Given the description of an element on the screen output the (x, y) to click on. 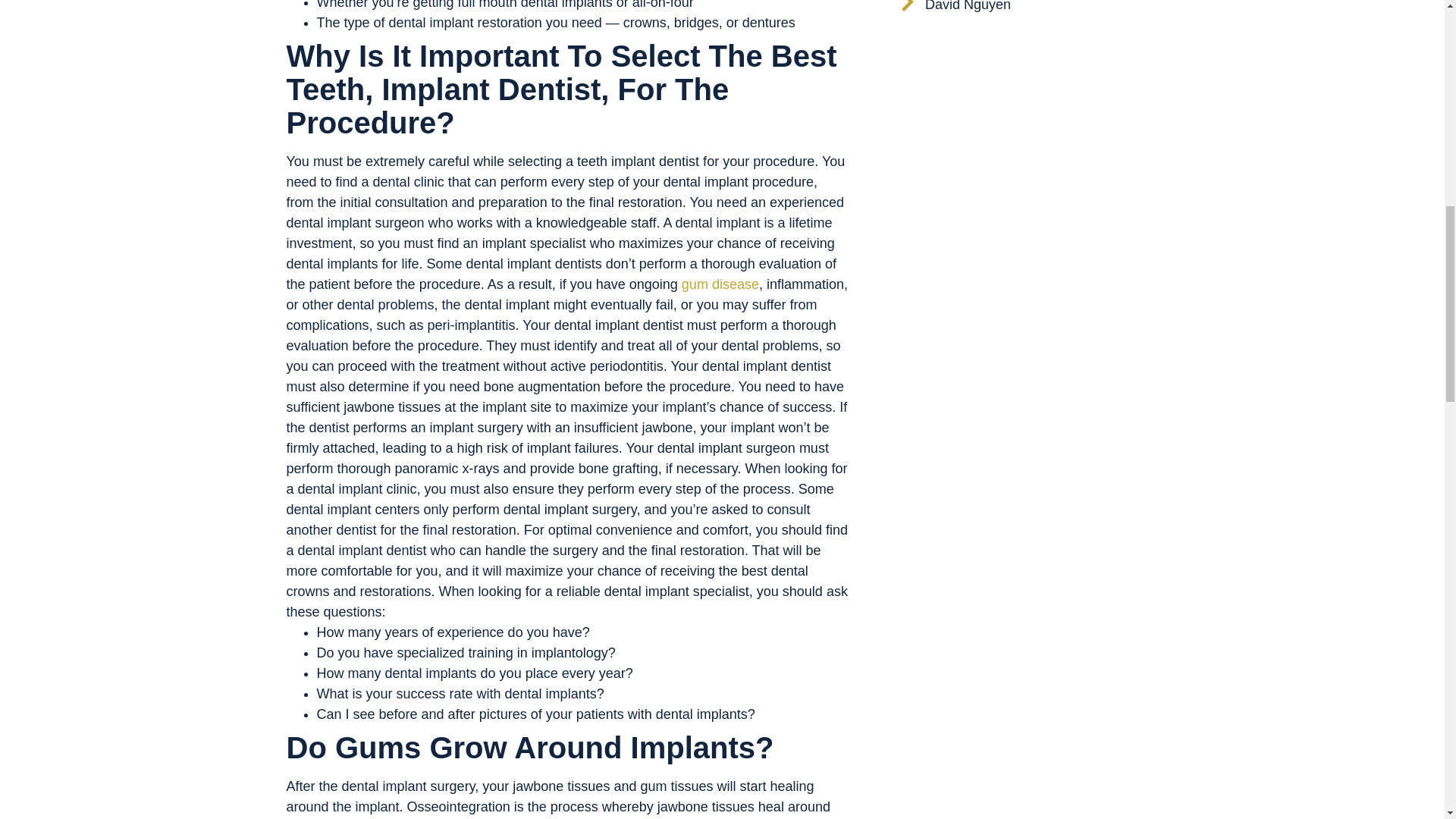
David Nguyen (955, 9)
gum disease (718, 283)
